Given the description of an element on the screen output the (x, y) to click on. 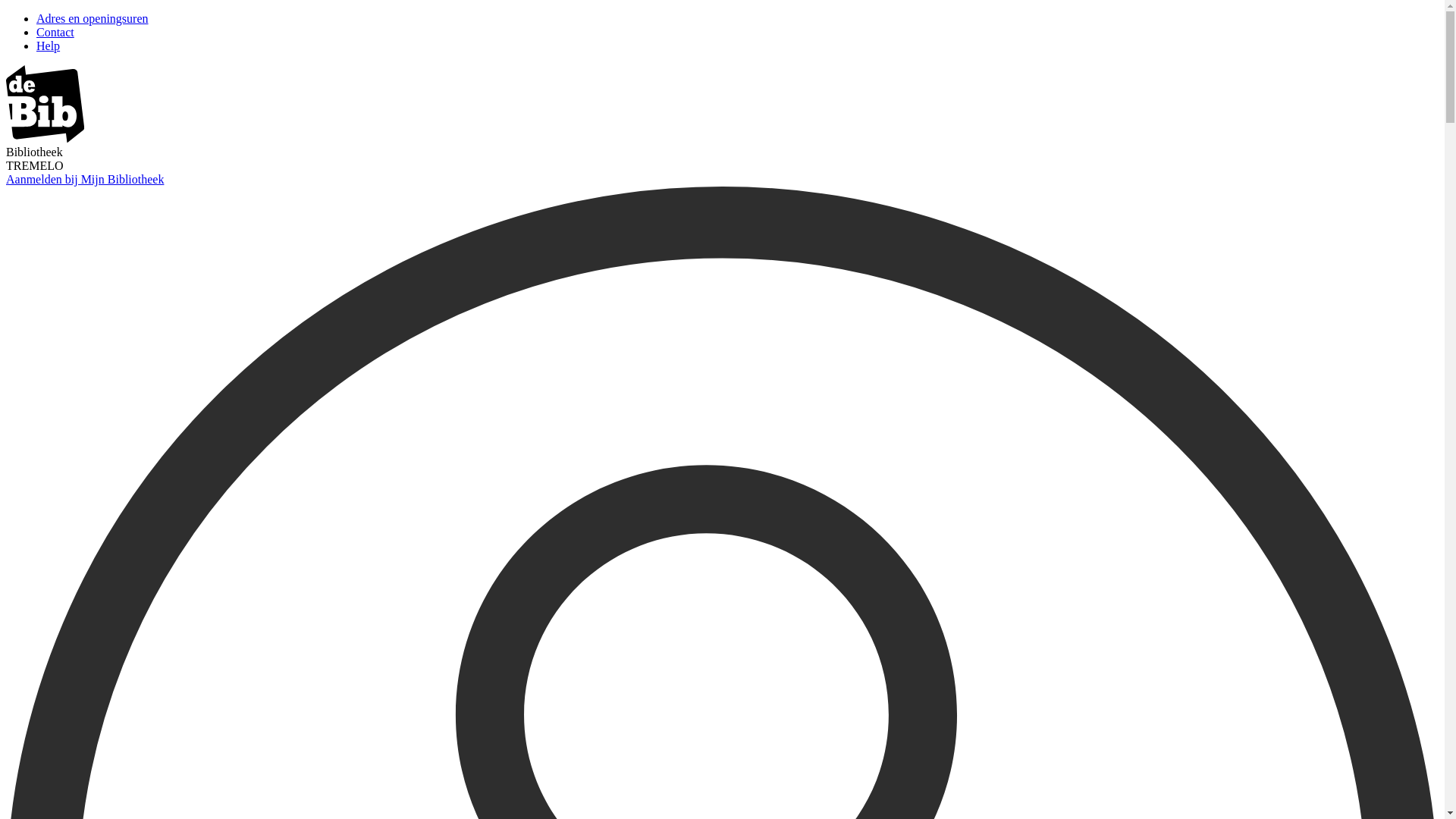
Adres en openingsuren Element type: text (92, 18)
Contact Element type: text (55, 31)
Aanmelden bij Mijn Bibliotheek Element type: text (84, 178)
image/svg+xml Element type: text (45, 137)
Help Element type: text (47, 45)
Overslaan en naar zoeken gaan Element type: text (6, 12)
